Given the description of an element on the screen output the (x, y) to click on. 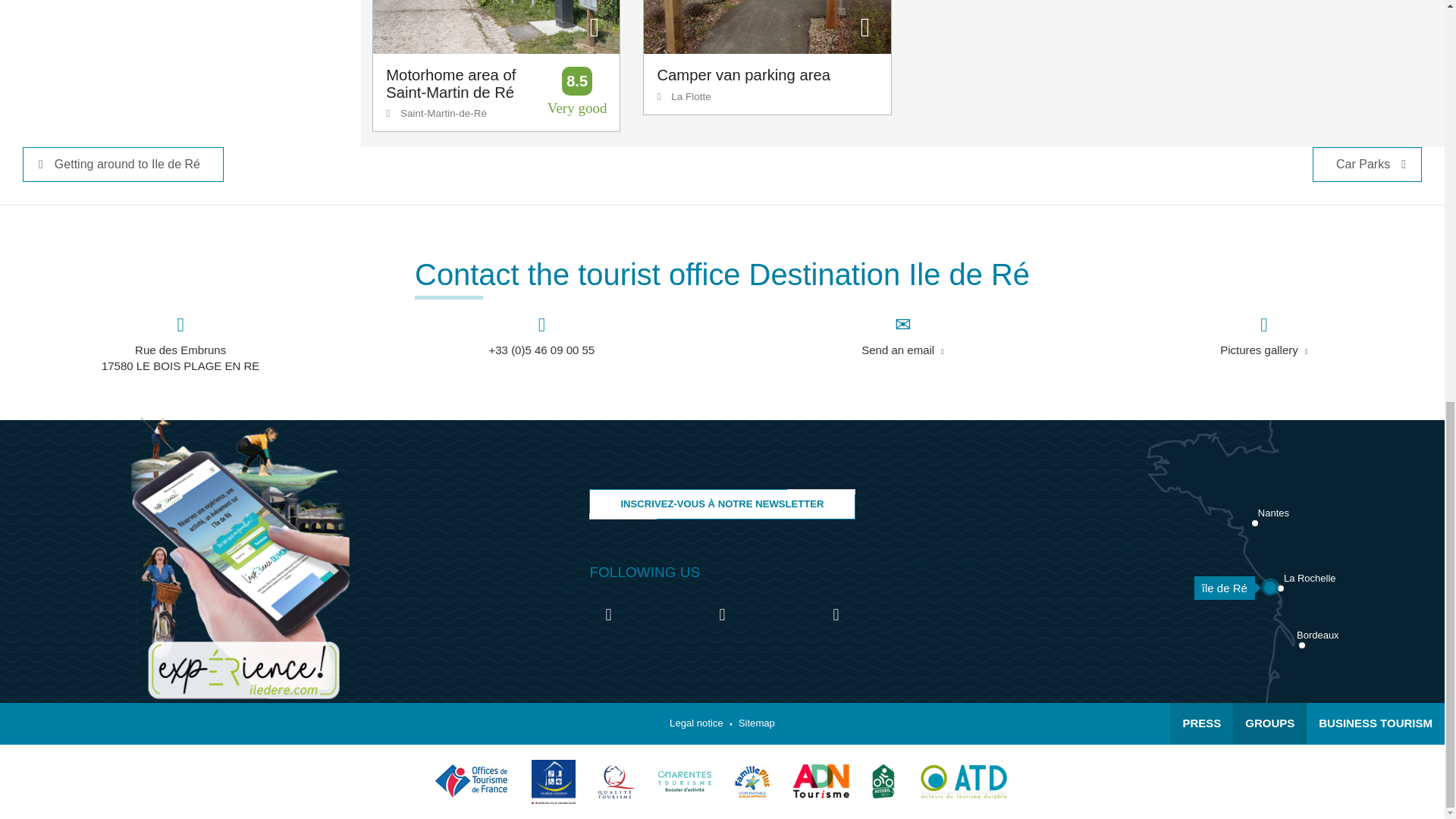
Camper van parking area (766, 27)
Contact us (902, 338)
